Given the description of an element on the screen output the (x, y) to click on. 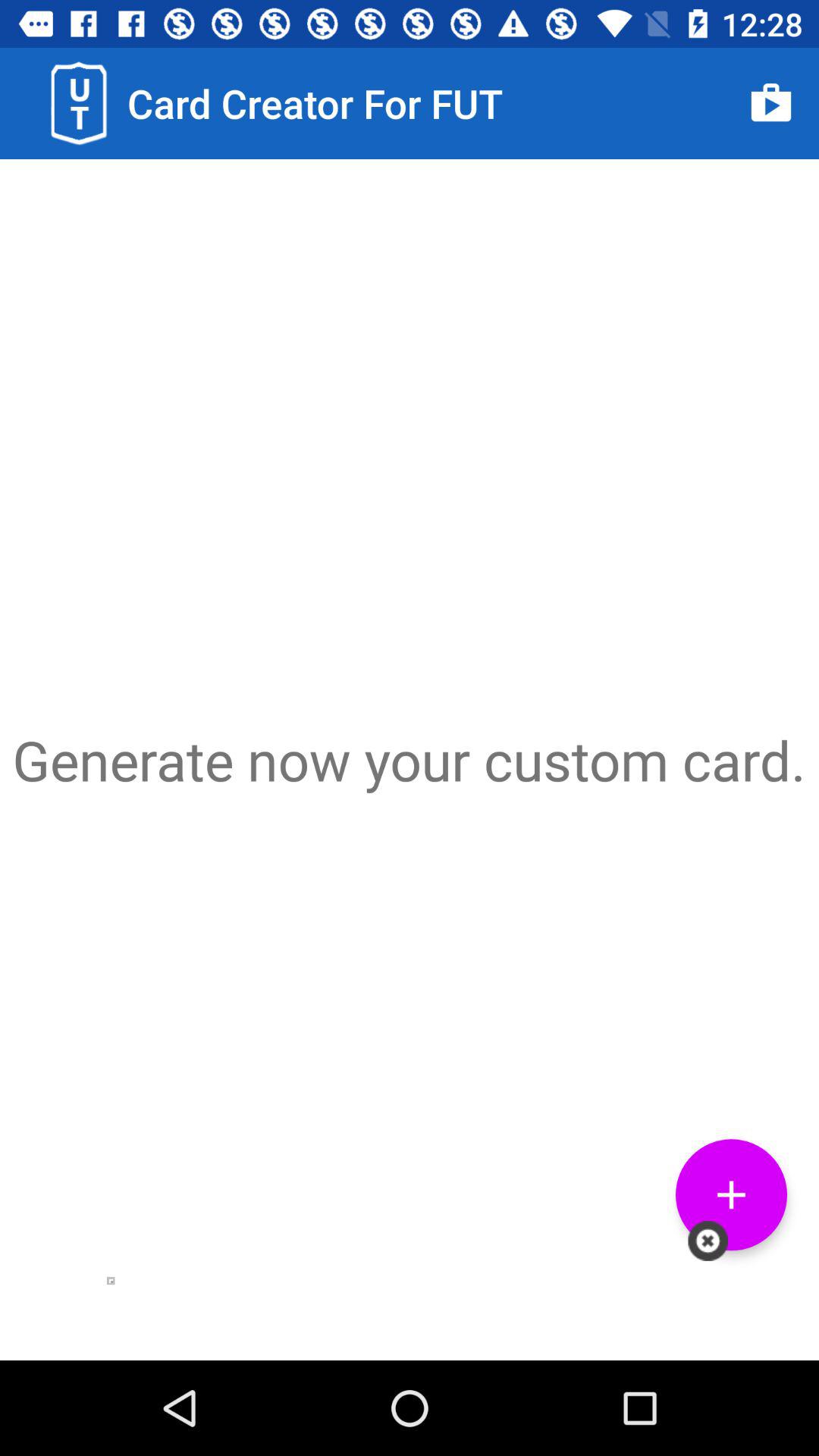
turn off the item to the right of the card creator for app (771, 103)
